Given the description of an element on the screen output the (x, y) to click on. 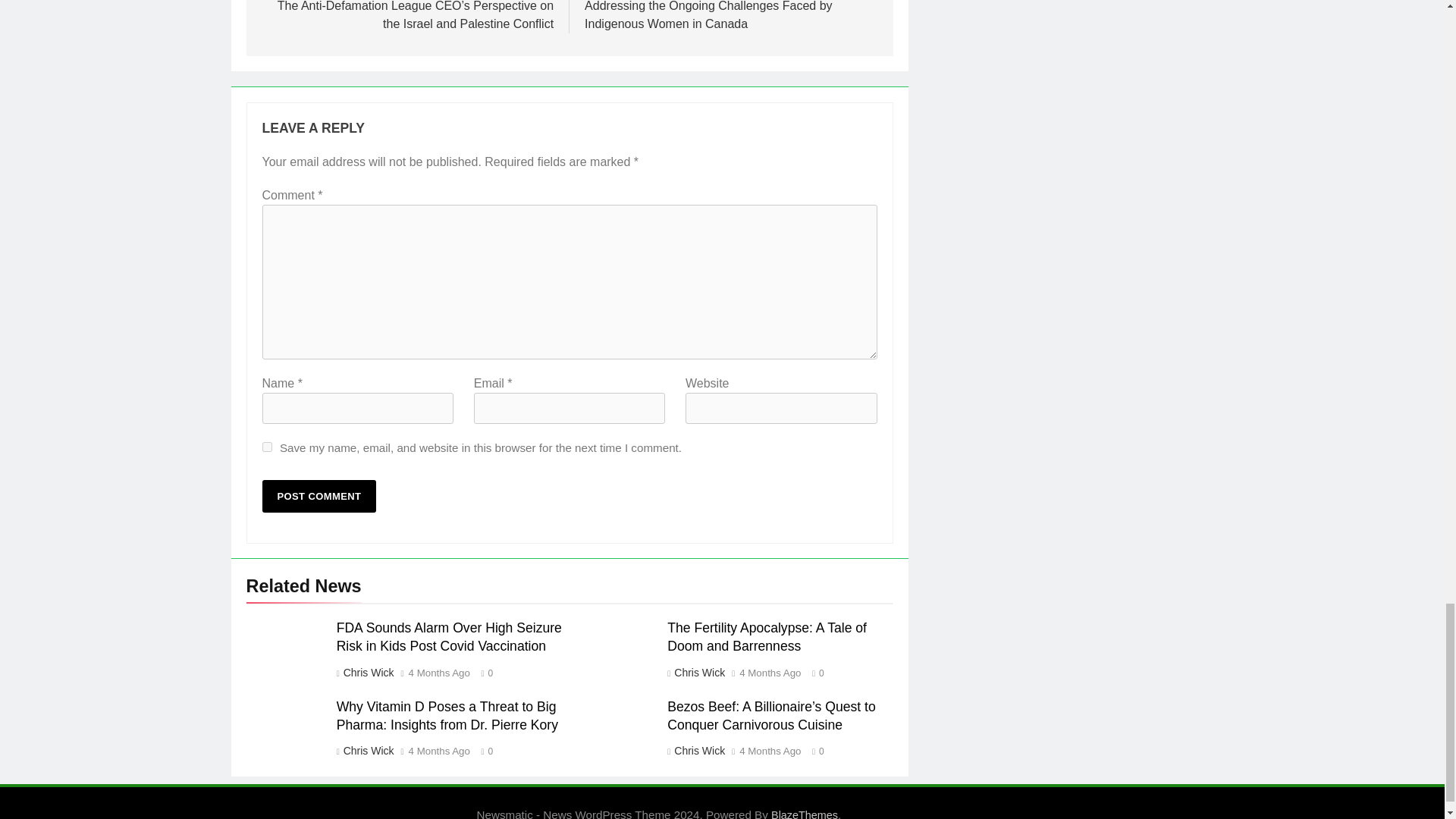
yes (267, 447)
Post Comment (319, 495)
